Given the description of an element on the screen output the (x, y) to click on. 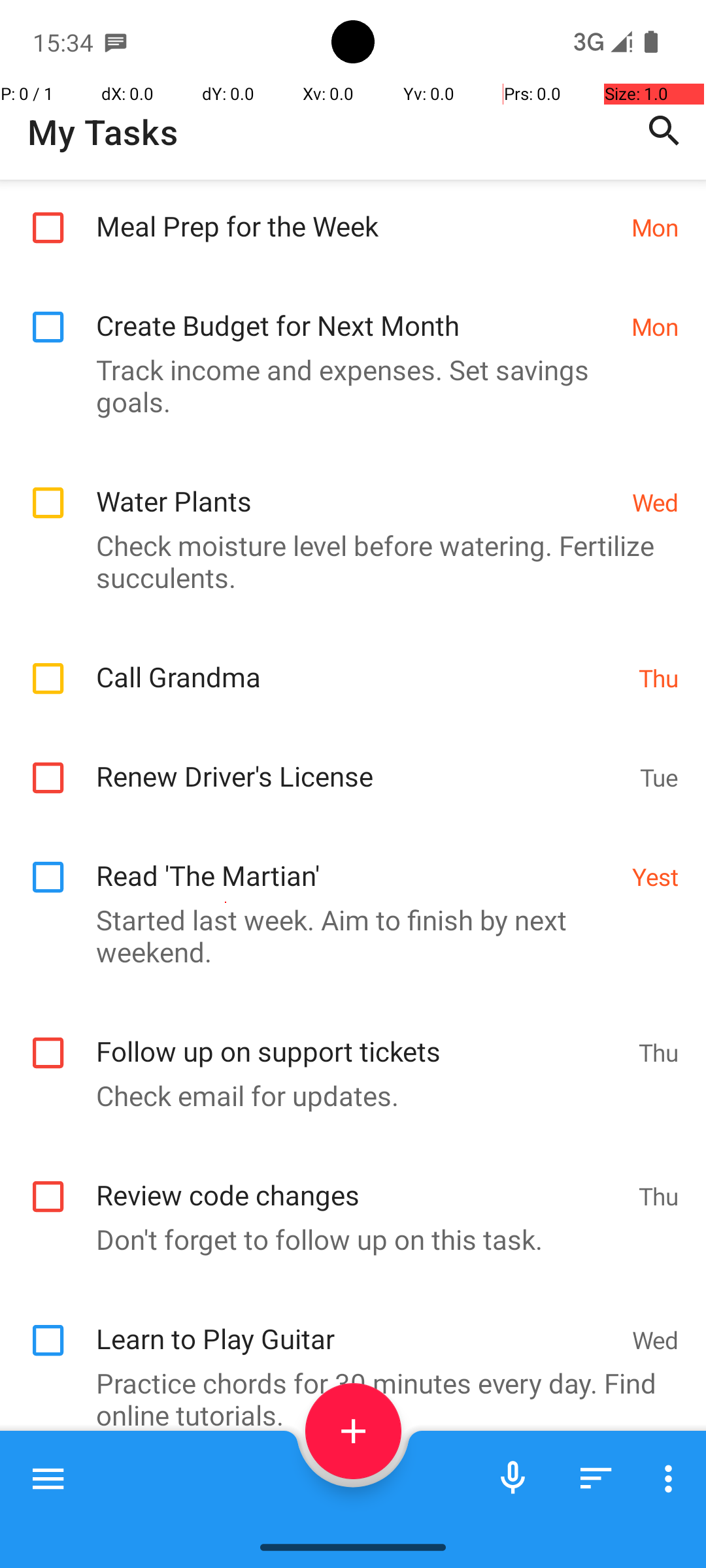
Follow up on support tickets Element type: android.widget.TextView (360, 1036)
Check email for updates. Element type: android.widget.TextView (346, 1094)
Review code changes Element type: android.widget.TextView (360, 1180)
Don't forget to follow up on this task. Element type: android.widget.TextView (346, 1238)
